Given the description of an element on the screen output the (x, y) to click on. 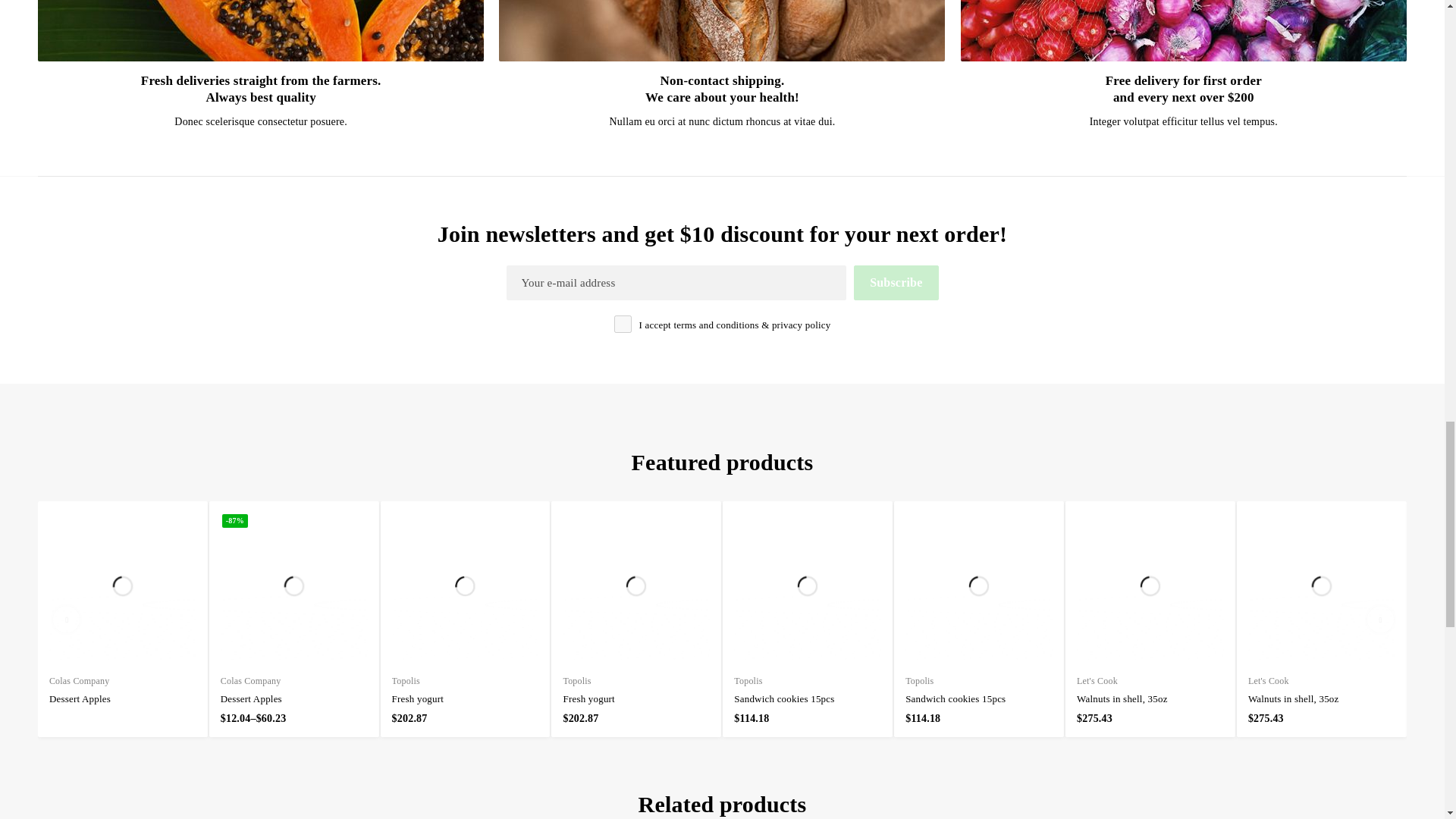
1 (622, 323)
